Given the description of an element on the screen output the (x, y) to click on. 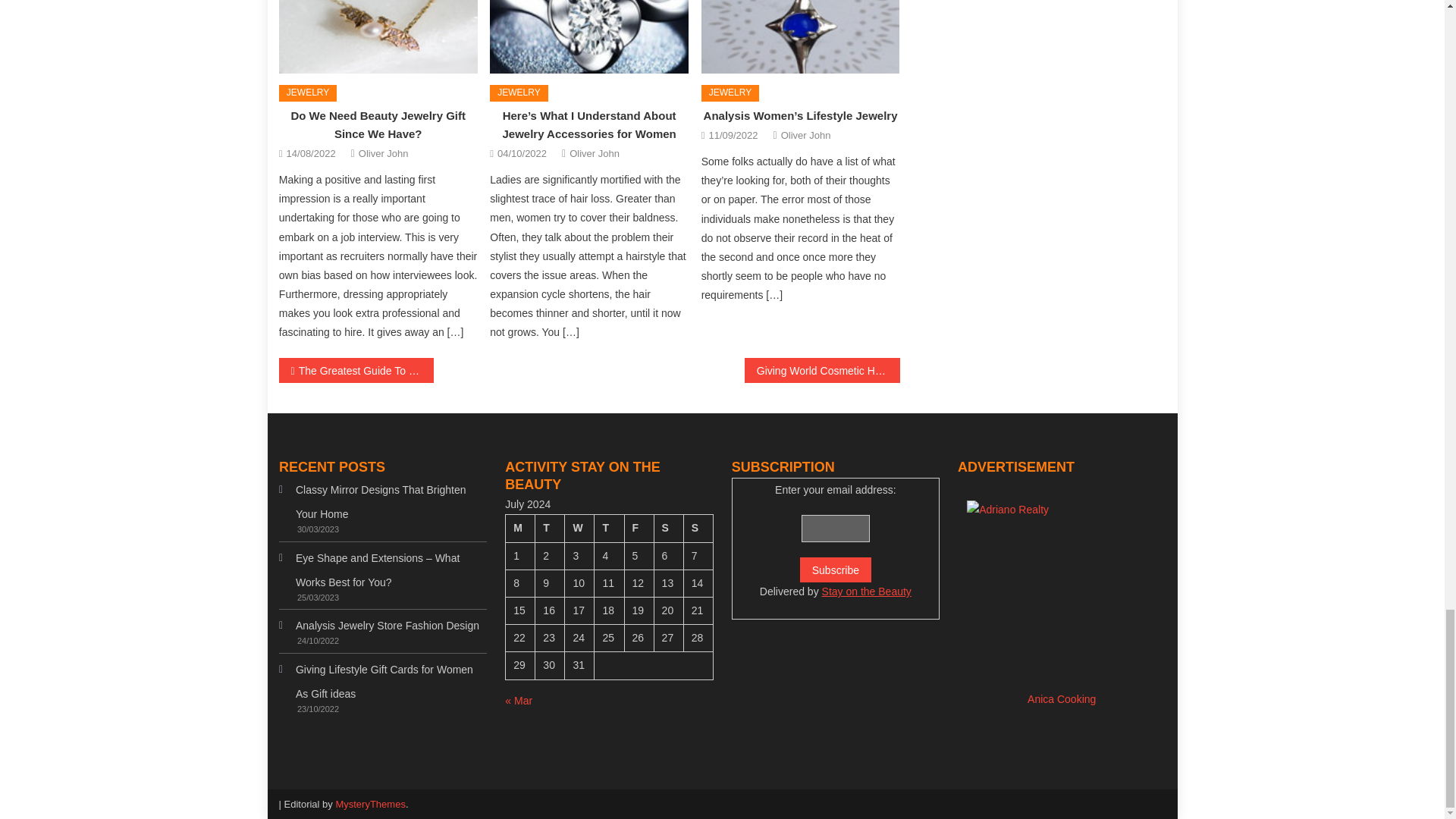
JEWELRY (307, 93)
Oliver John (594, 153)
Analysis Women's Lifestyle Jewelry (800, 37)
Oliver John (383, 153)
Subscribe (834, 569)
JEWELRY (729, 93)
Do We Need Beauty Jewelry Gift Since We Have? (378, 37)
JEWELRY (518, 93)
Do We Need Beauty Jewelry Gift Since We Have? (378, 37)
Do We Need Beauty Jewelry Gift Since We Have? (377, 124)
Here's What I Understand About Jewelry Accessories for Women (588, 37)
